Given the description of an element on the screen output the (x, y) to click on. 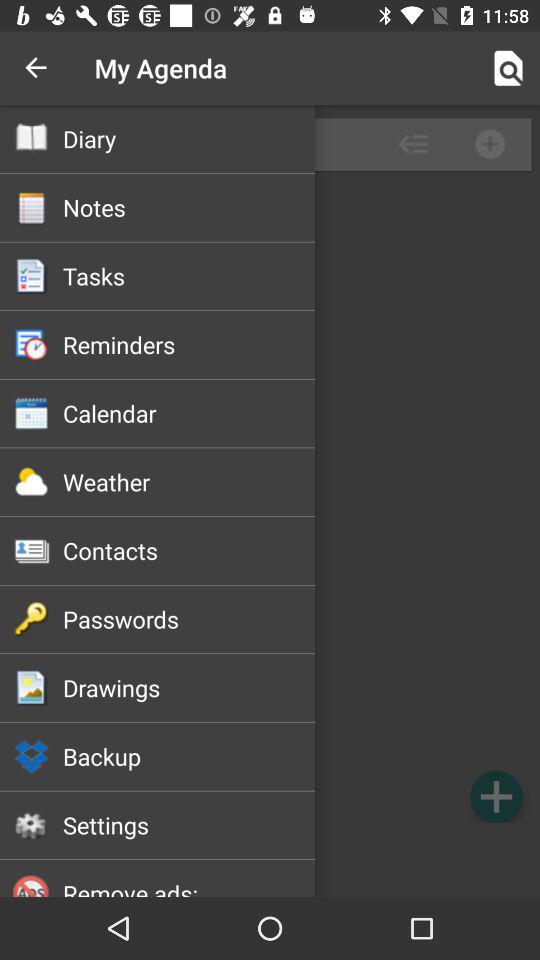
turn on icon below notes (188, 276)
